Given the description of an element on the screen output the (x, y) to click on. 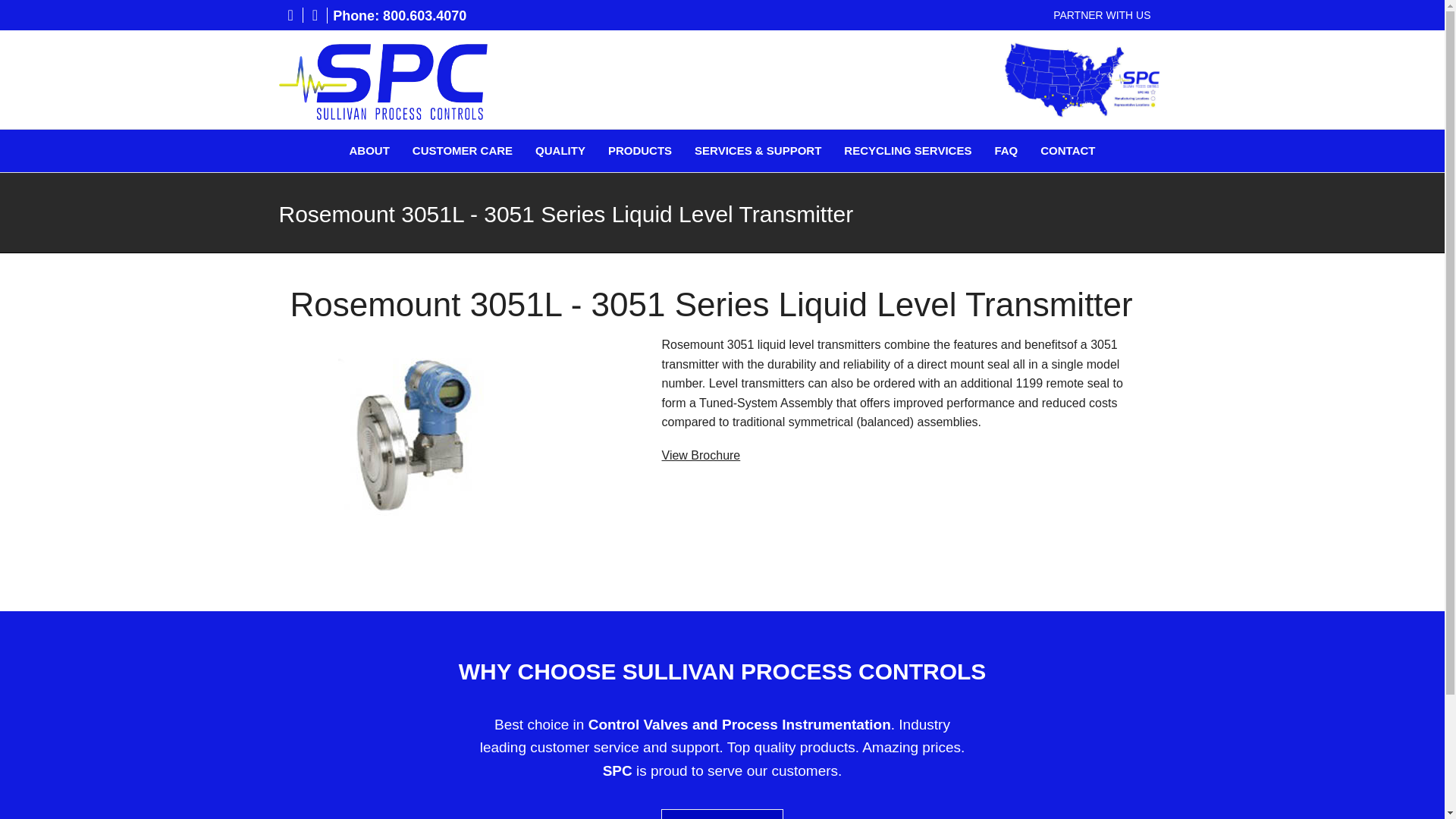
PRODUCTS (639, 150)
About (368, 150)
QUALITY (560, 150)
PARTNER WITH US (1102, 14)
CUSTOMER CARE (462, 150)
Find Out More (722, 814)
View Brochure (700, 454)
CONTACT (1067, 150)
ABOUT (368, 150)
RECYCLING SERVICES (907, 150)
